Given the description of an element on the screen output the (x, y) to click on. 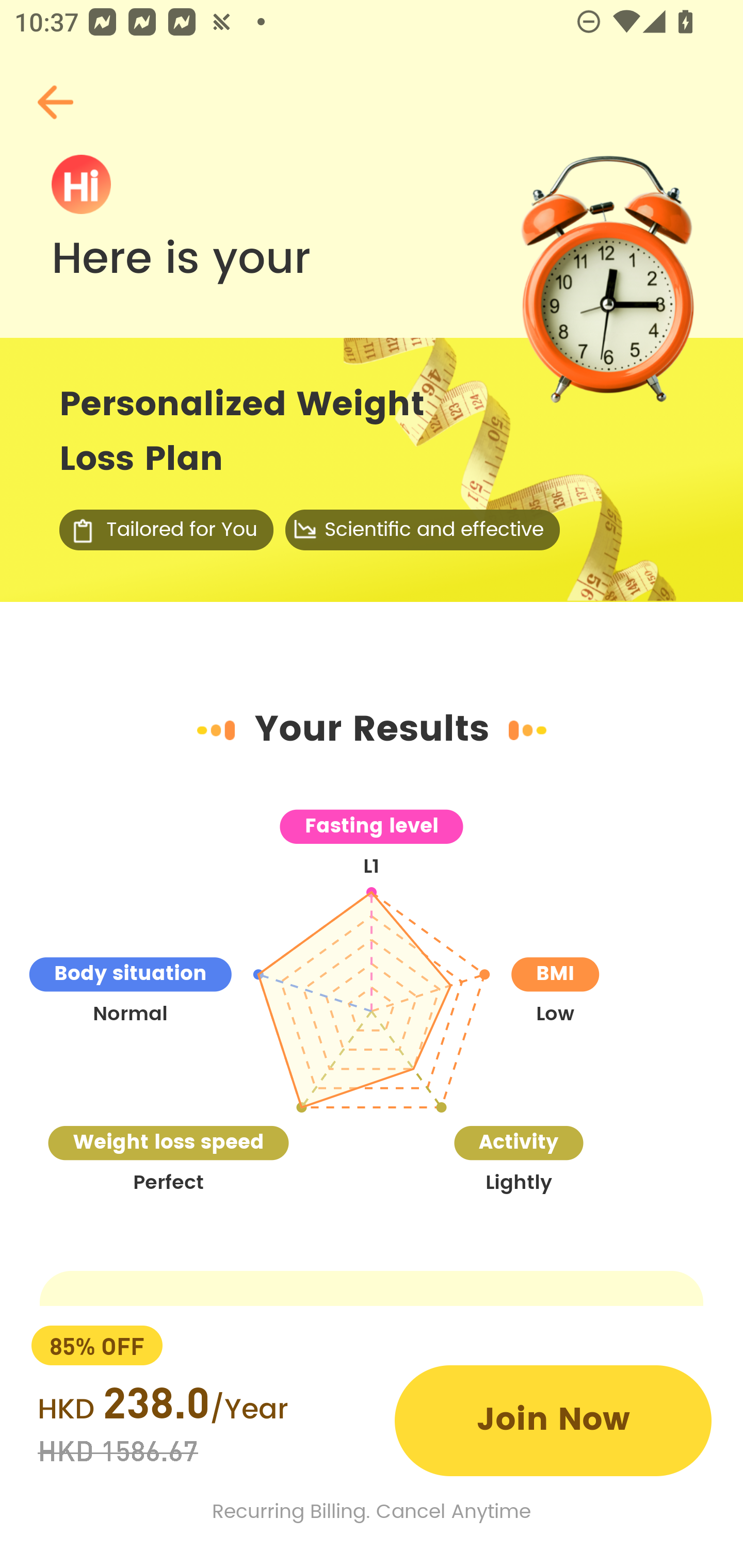
Join Now (552, 1420)
